Given the description of an element on the screen output the (x, y) to click on. 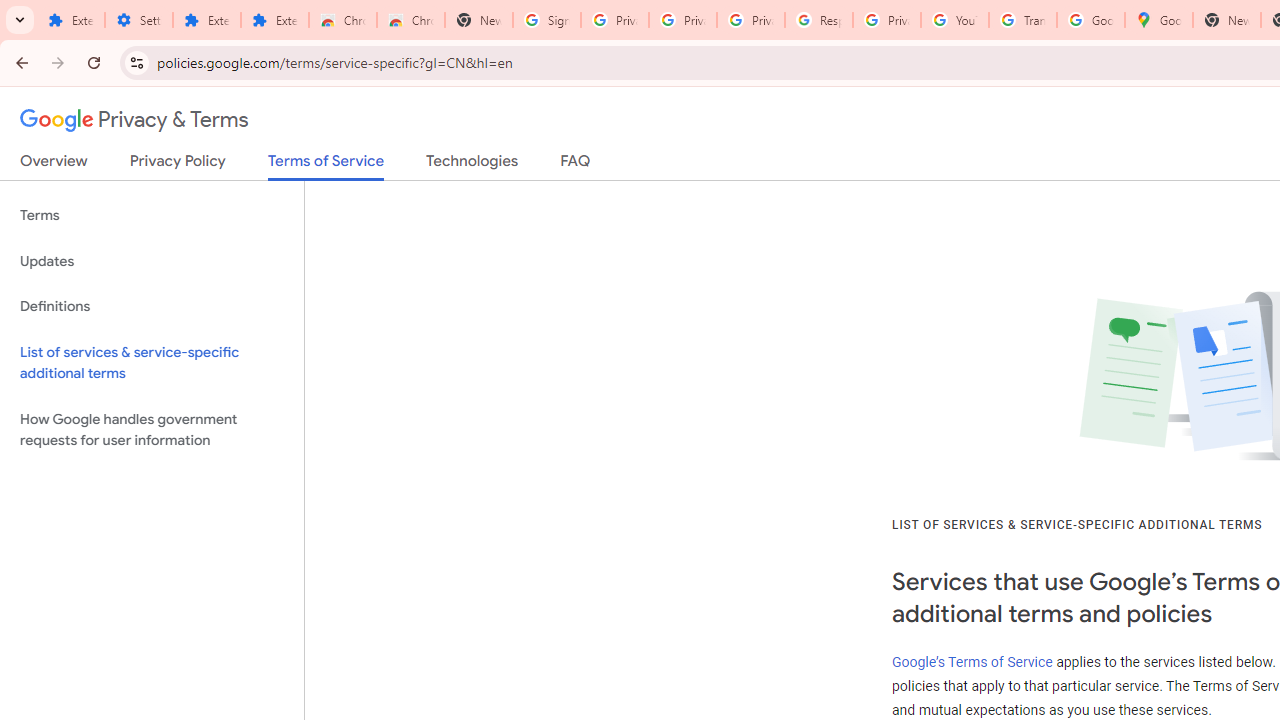
How Google handles government requests for user information (152, 429)
Chrome Web Store (342, 20)
Chrome Web Store - Themes (411, 20)
Definitions (152, 306)
Extensions (206, 20)
New Tab (1226, 20)
New Tab (479, 20)
